Given the description of an element on the screen output the (x, y) to click on. 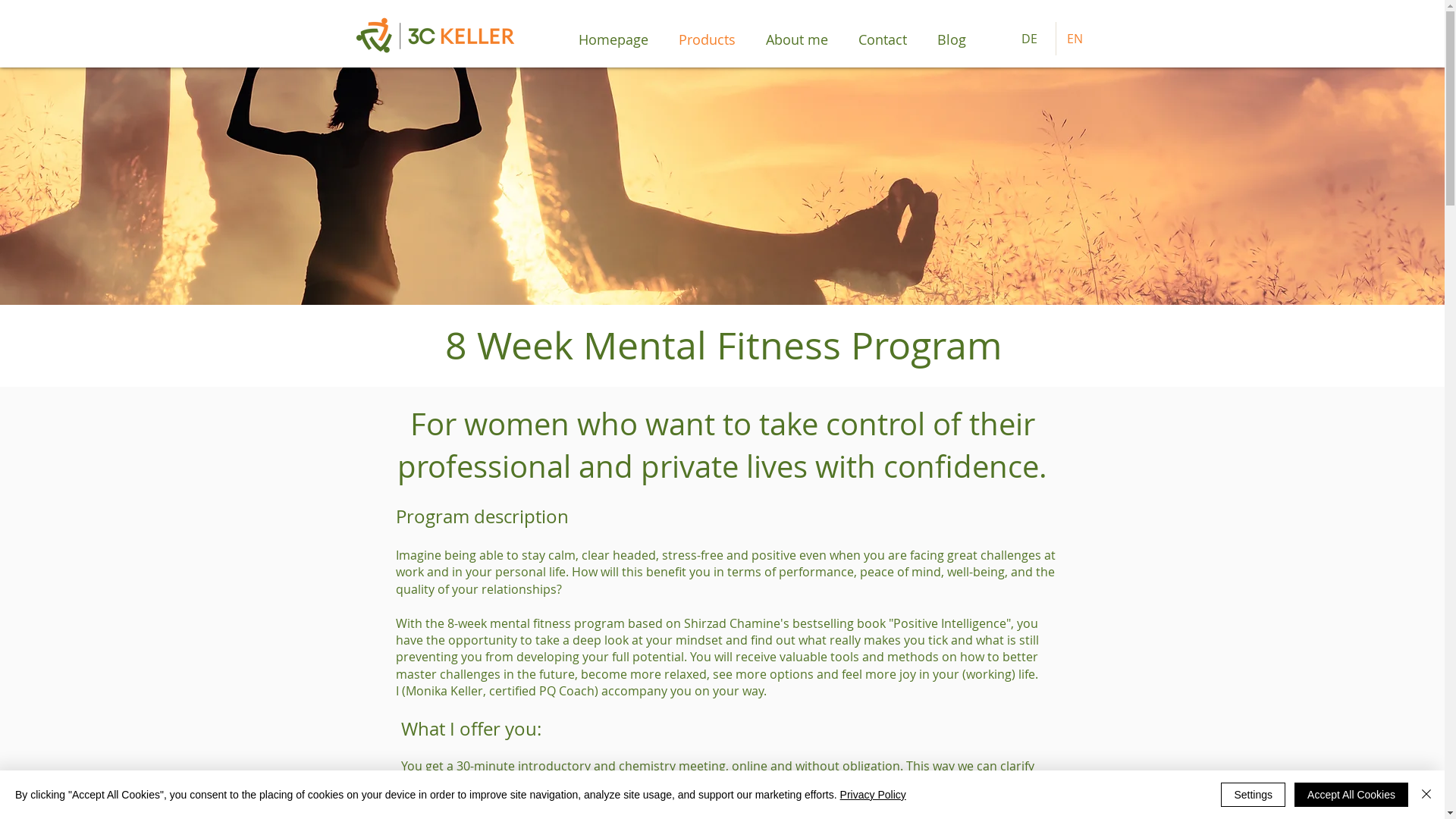
Blog Element type: text (951, 38)
EN Element type: text (1078, 38)
DE Element type: text (1032, 38)
Products Element type: text (705, 38)
Settings Element type: text (1252, 794)
Accept All Cookies Element type: text (1351, 794)
Contact Element type: text (882, 38)
Privacy Policy Element type: text (873, 794)
About me Element type: text (796, 38)
Homepage Element type: text (612, 38)
